Given the description of an element on the screen output the (x, y) to click on. 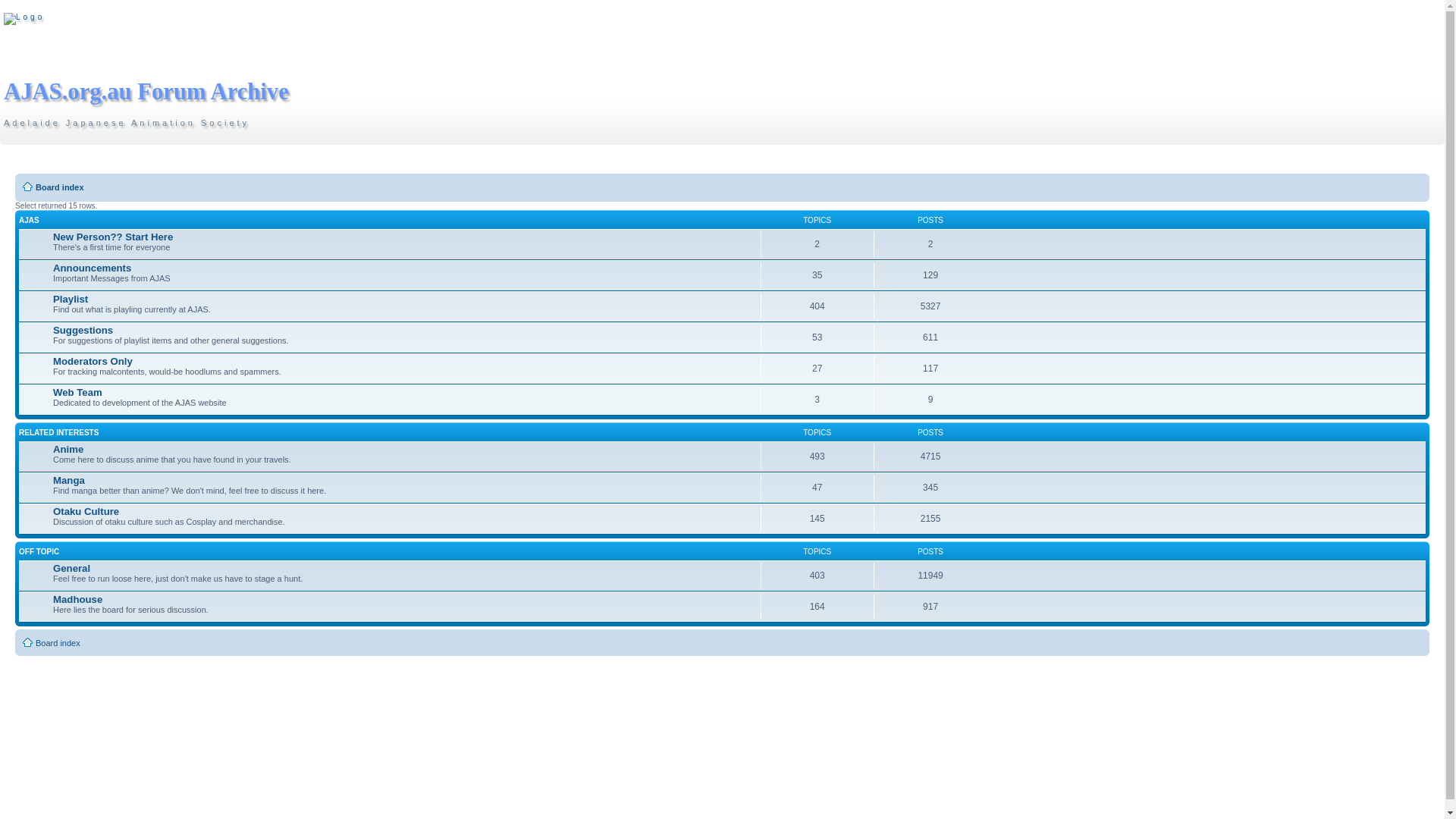
Otaku Culture Element type: text (86, 511)
Playlist Element type: text (70, 298)
Board index Element type: text (59, 186)
New Person?? Start Here Element type: text (112, 236)
Board index Element type: hover (23, 18)
Board index Element type: text (57, 642)
General Element type: text (71, 568)
Anime Element type: text (68, 449)
Web Team Element type: text (77, 392)
Suggestions Element type: text (82, 329)
Announcements Element type: text (92, 267)
Madhouse Element type: text (77, 599)
Moderators Only Element type: text (92, 361)
Manga Element type: text (68, 480)
